Given the description of an element on the screen output the (x, y) to click on. 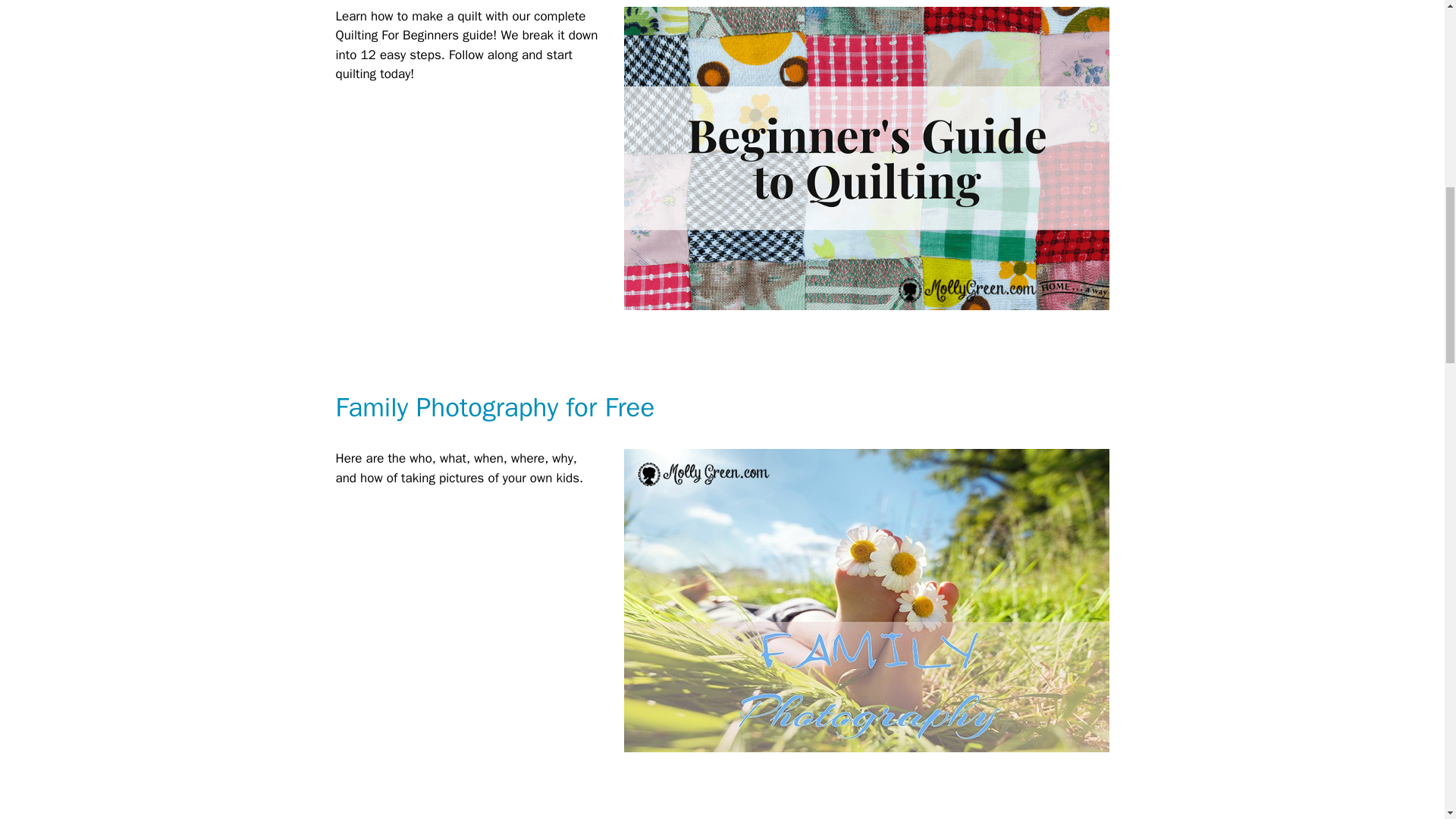
Scroll back to top (1406, 720)
Family Photography for Free (493, 407)
